Given the description of an element on the screen output the (x, y) to click on. 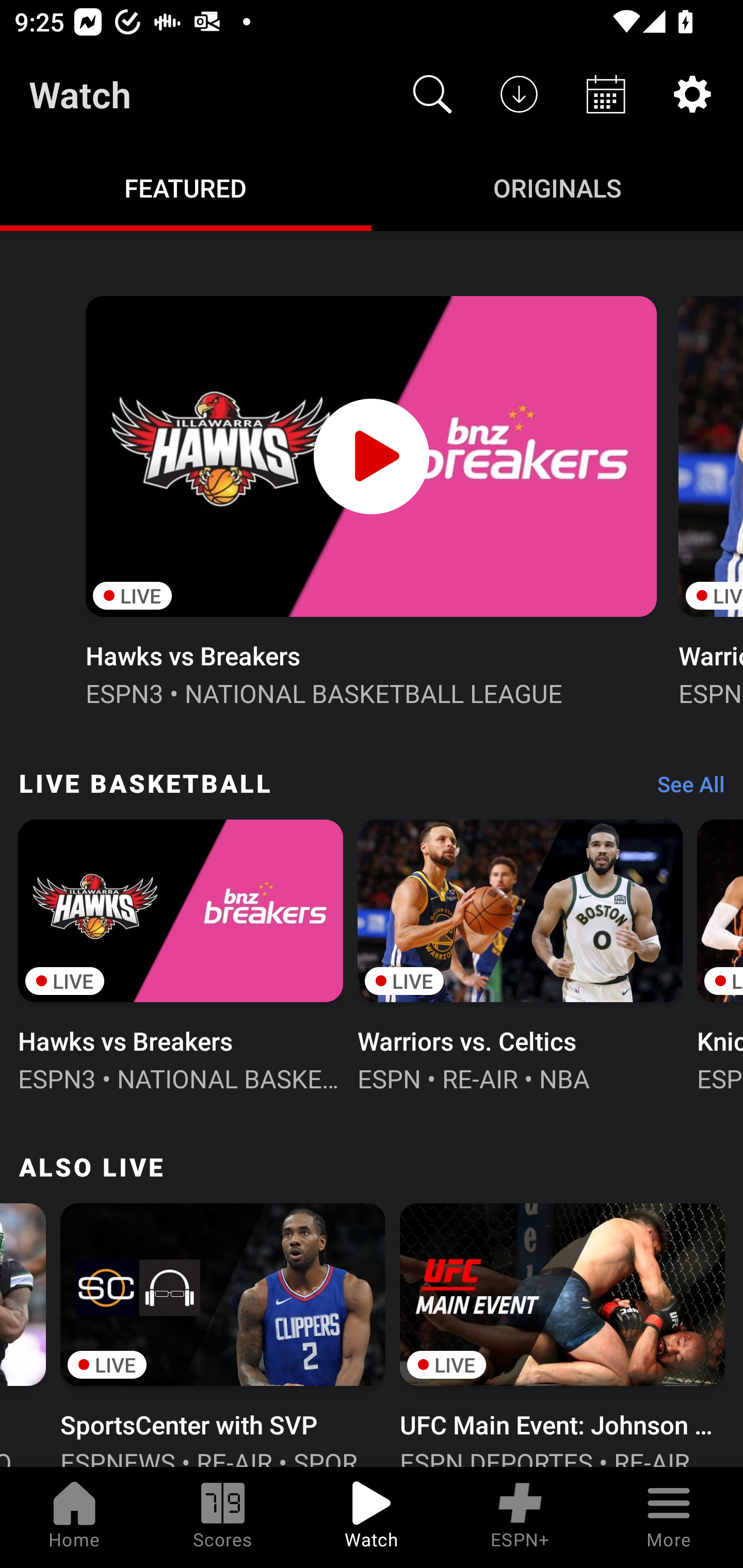
Search (432, 93)
Downloads (518, 93)
Schedule (605, 93)
Settings (692, 93)
Originals ORIGINALS (557, 187)
See All (683, 788)
LIVE Warriors vs. Celtics ESPN • RE-AIR • NBA (519, 954)
Home (74, 1517)
Scores (222, 1517)
ESPN+ (519, 1517)
More (668, 1517)
